Given the description of an element on the screen output the (x, y) to click on. 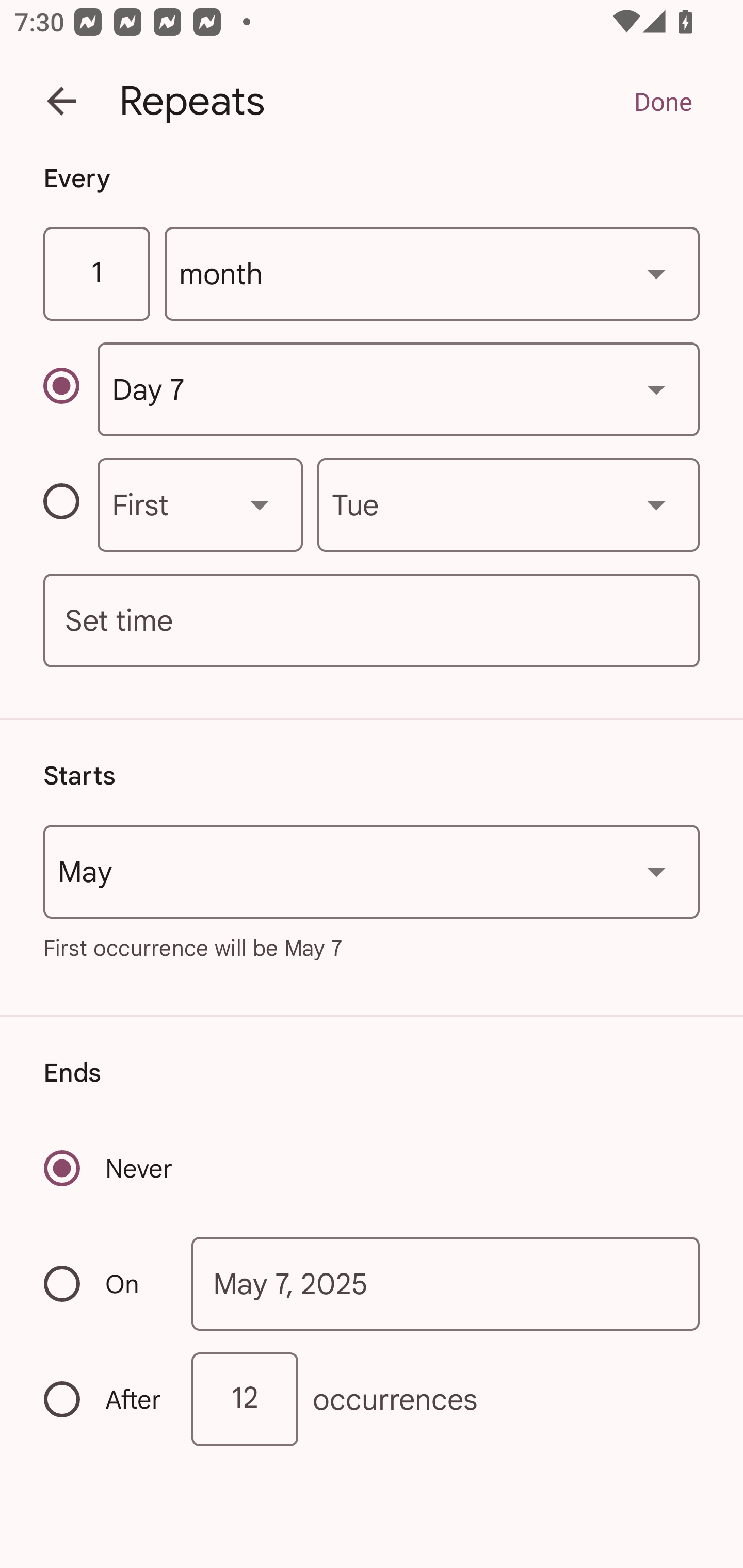
Back (61, 101)
Done (663, 101)
1 (96, 274)
month (431, 274)
Show dropdown menu (655, 273)
Day 7 (398, 388)
Show dropdown menu (655, 389)
Repeat monthly on a specific day of the month (70, 389)
First (200, 504)
Tue (508, 504)
Show dropdown menu (259, 504)
Show dropdown menu (655, 504)
Repeat monthly on a specific weekday (70, 504)
Set time (371, 620)
May (371, 871)
Show dropdown menu (655, 871)
Never Recurrence never ends (109, 1168)
May 7, 2025 (445, 1284)
On Recurrence ends on a specific date (104, 1283)
12 (244, 1398)
